Given the description of an element on the screen output the (x, y) to click on. 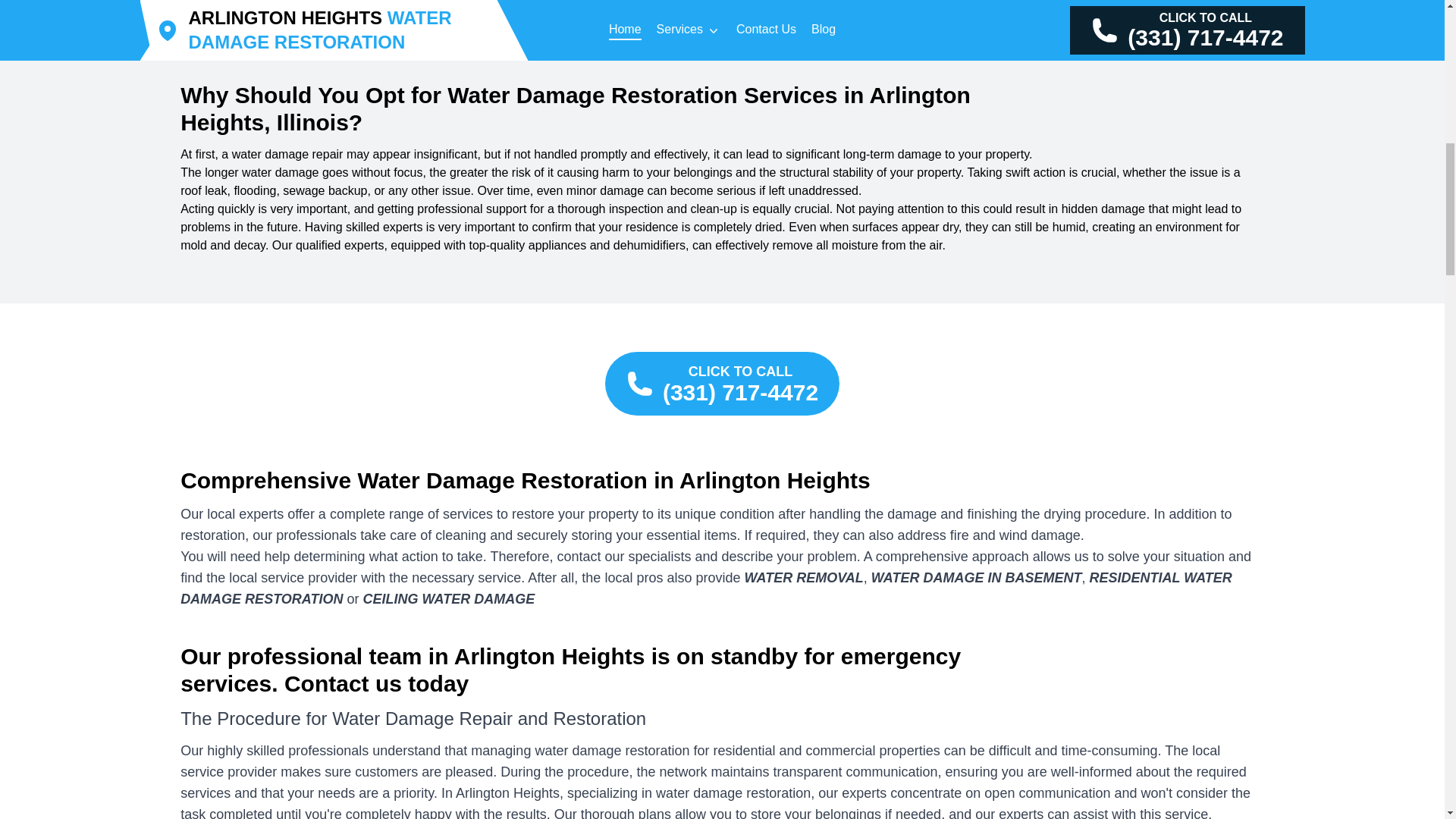
CEILING WATER DAMAGE (448, 598)
RESIDENTIAL WATER DAMAGE RESTORATION (705, 588)
WATER DAMAGE IN BASEMENT (975, 577)
Click to call us (722, 383)
WATER REMOVAL (803, 577)
